Given the description of an element on the screen output the (x, y) to click on. 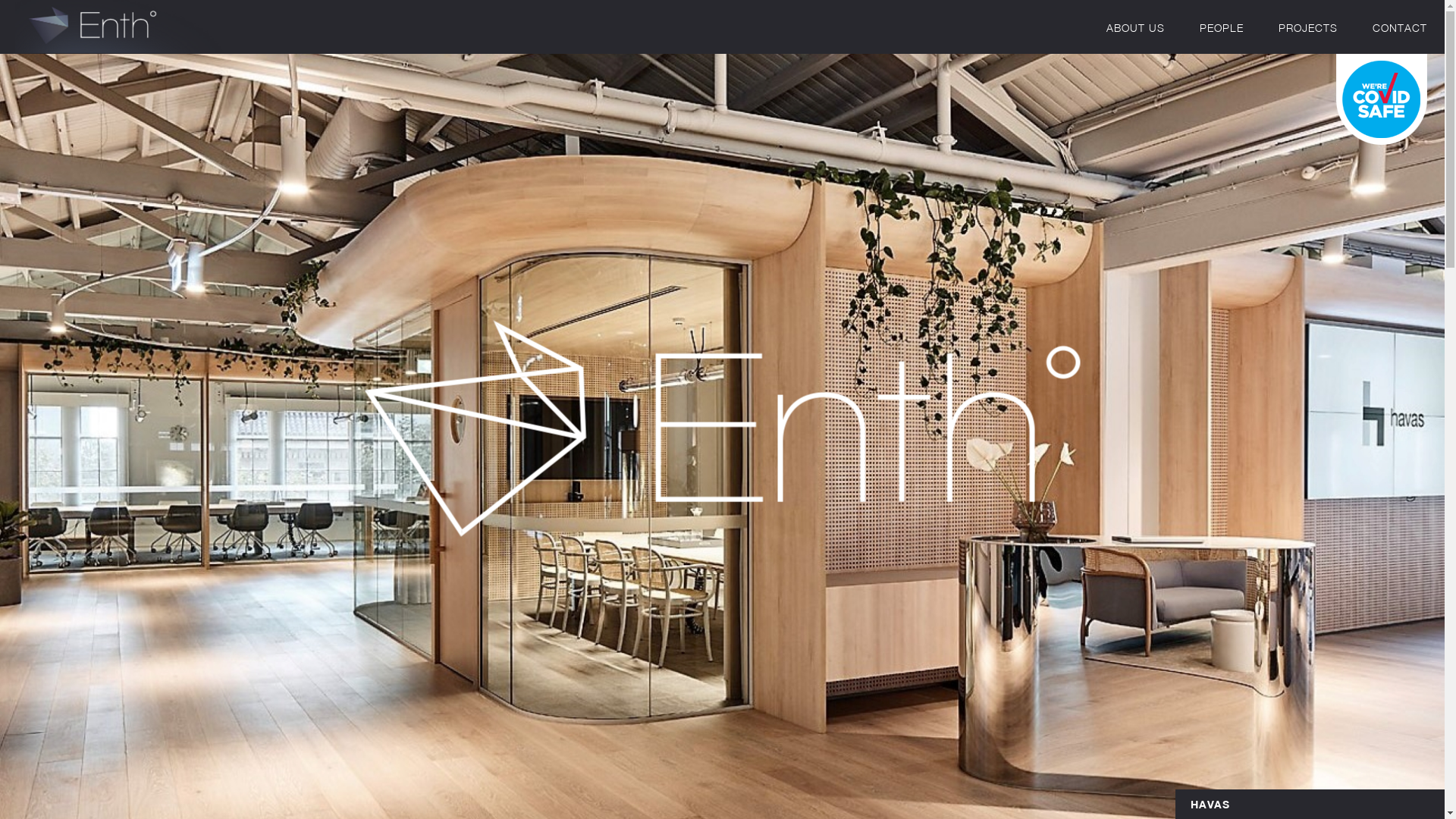
CONTACT Element type: text (1399, 26)
ABOUT US Element type: text (1135, 26)
PEOPLE Element type: text (1221, 26)
PROJECTS Element type: text (1308, 26)
